Given the description of an element on the screen output the (x, y) to click on. 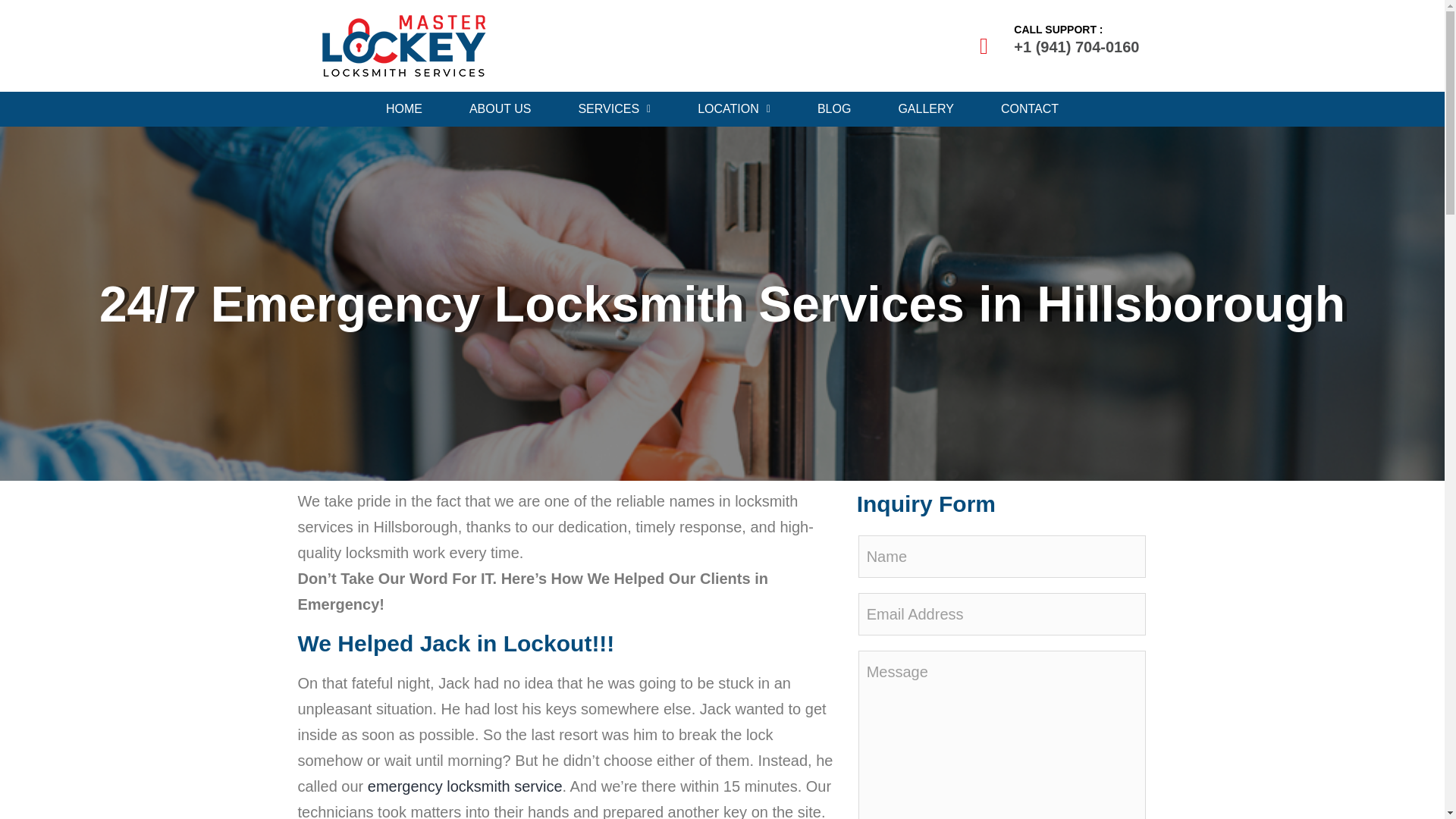
emergency locksmith service (465, 786)
BLOG (833, 108)
LOCATION (733, 108)
SERVICES (614, 108)
HOME (403, 108)
ABOUT US (500, 108)
GALLERY (925, 108)
CONTACT (1030, 108)
